Given the description of an element on the screen output the (x, y) to click on. 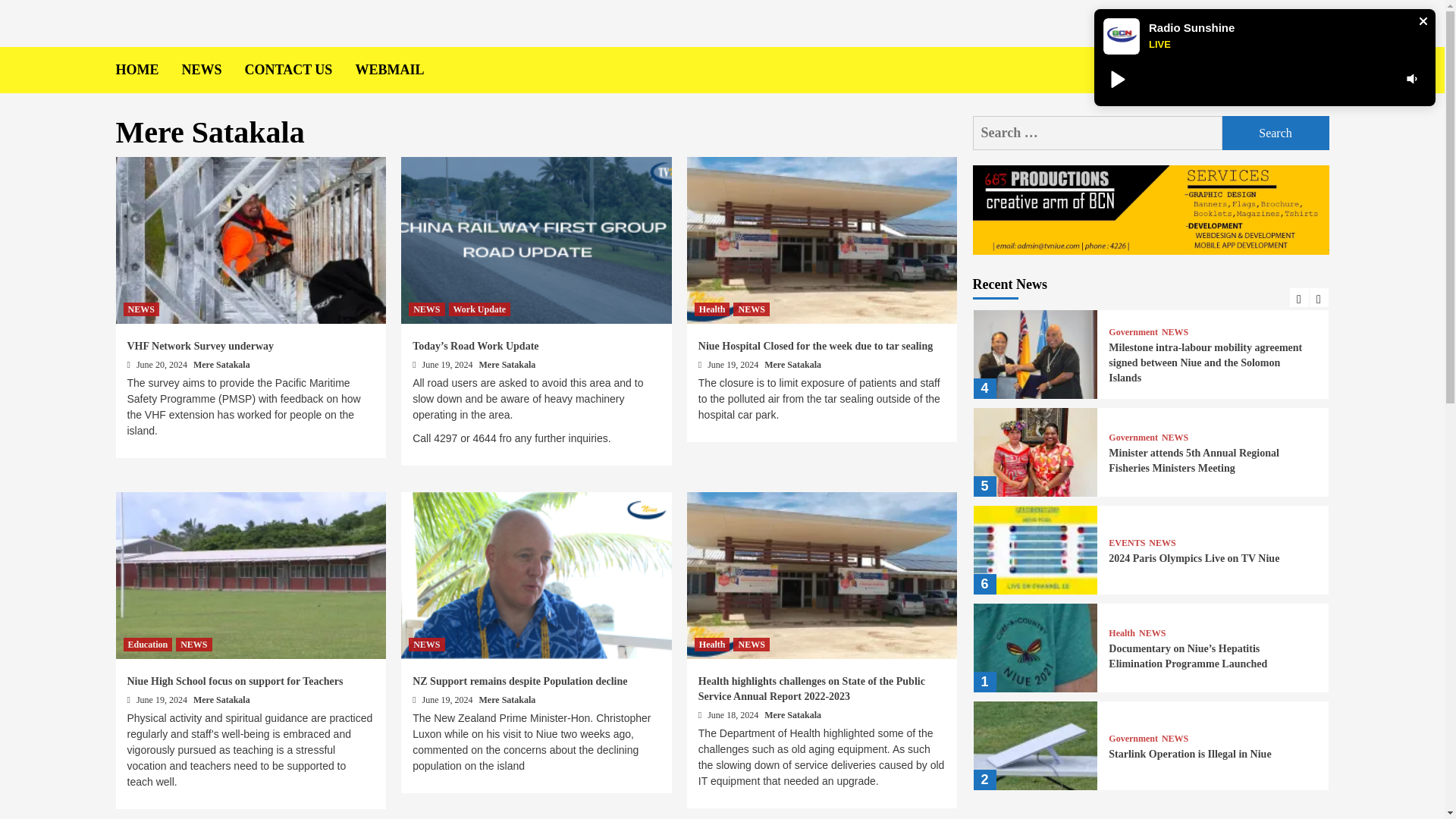
CONTACT US (299, 69)
Close Player (1422, 21)
Health (712, 644)
Radio Sunshine (1191, 27)
Mere Satakala (507, 699)
Mere Satakala (221, 364)
Search (1276, 132)
NEWS (193, 644)
Search (1276, 132)
VHF Network Survey underway (201, 346)
NEWS (750, 309)
Mere Satakala (221, 699)
NEWS (750, 644)
NEWS (426, 644)
Niue High School focus on support for Teachers (235, 681)
